Given the description of an element on the screen output the (x, y) to click on. 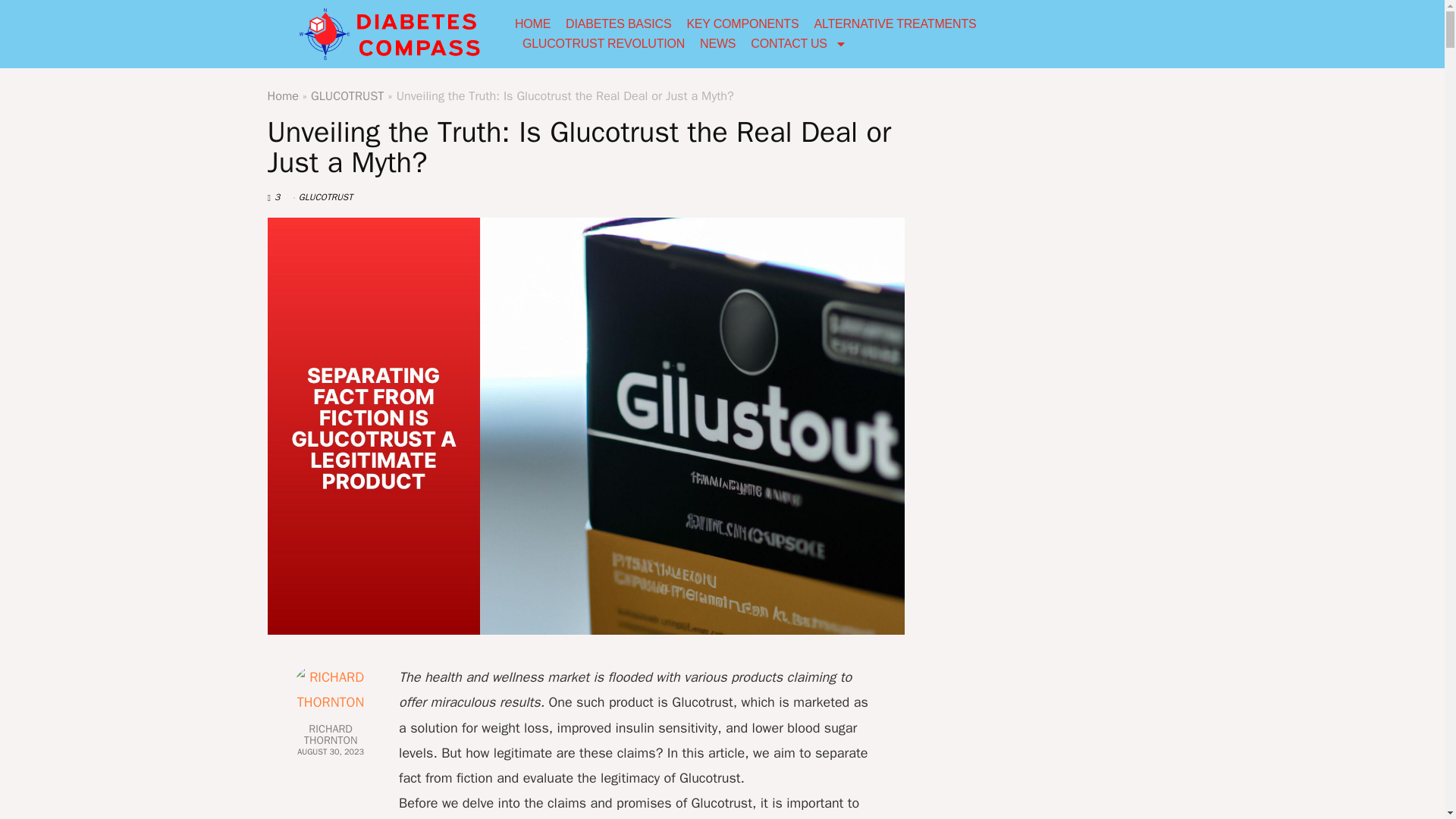
CONTACT US (799, 44)
GLUCOTRUST REVOLUTION (603, 44)
HOME (532, 24)
DIABETES BASICS (618, 24)
ALTERNATIVE TREATMENTS (894, 24)
View all posts in GLUCOTRUST (325, 196)
KEY COMPONENTS (741, 24)
NEWS (717, 44)
